Given the description of an element on the screen output the (x, y) to click on. 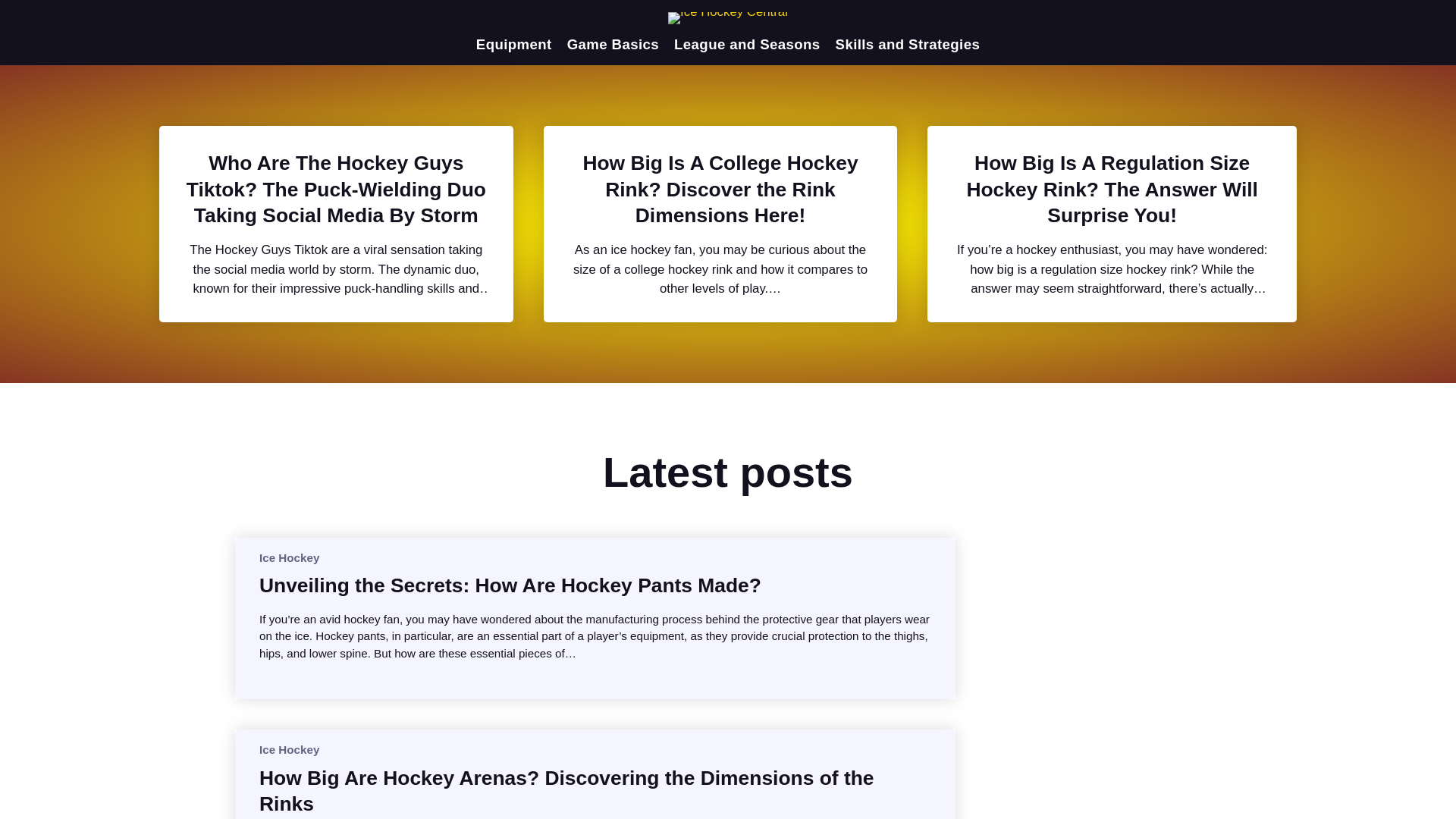
Ice Hockey (288, 556)
Equipment (513, 44)
Skills and Strategies (907, 44)
Unveiling the Secrets: How Are Hockey Pants Made? (510, 585)
Ice Hockey (288, 748)
League and Seasons (746, 44)
Game Basics (613, 44)
